Given the description of an element on the screen output the (x, y) to click on. 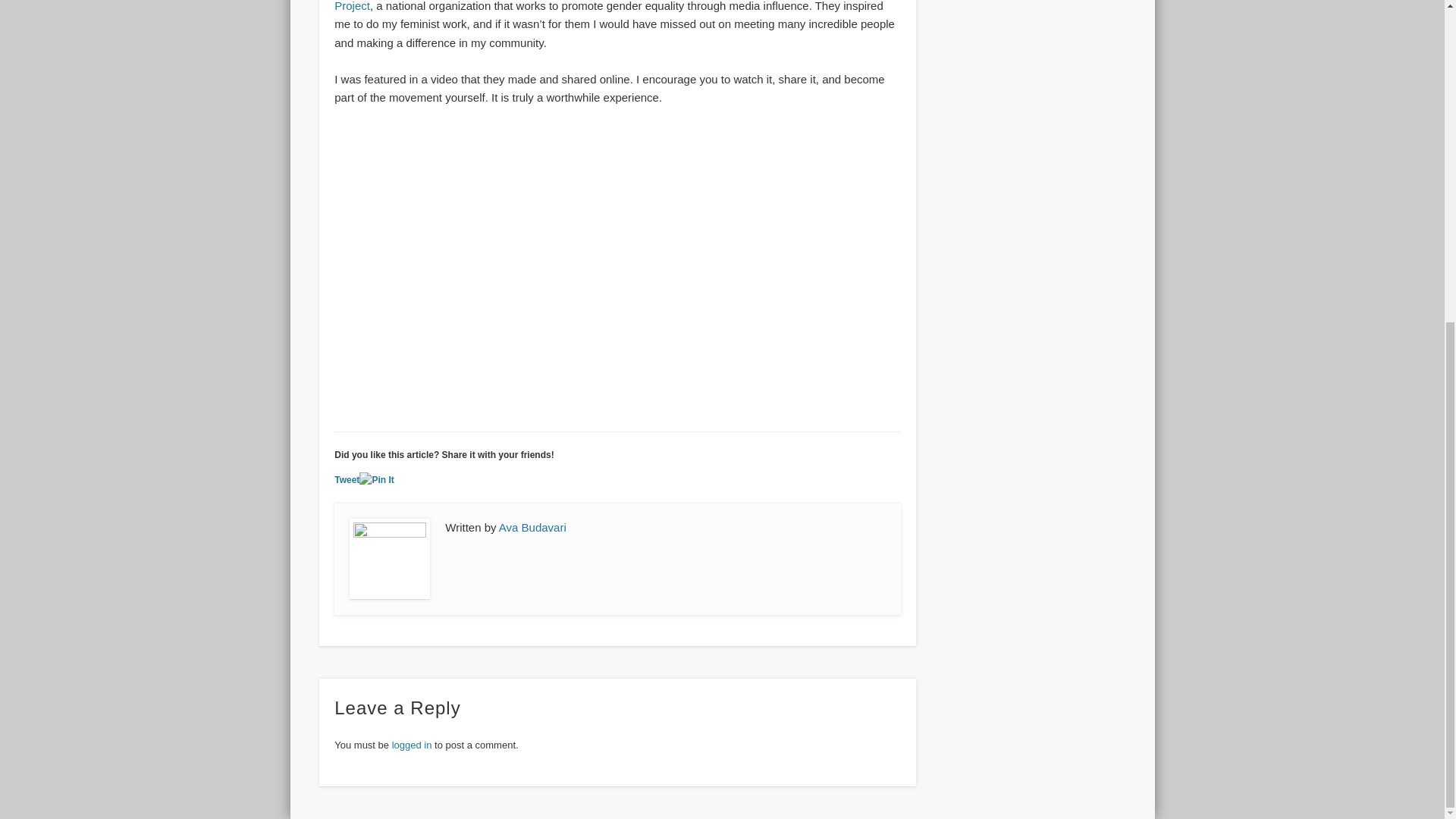
The Representation Project (608, 6)
logged in (411, 745)
Posts by Ava Budavari (532, 526)
Pin It (376, 480)
Tweet (346, 480)
Ava Budavari (532, 526)
